Given the description of an element on the screen output the (x, y) to click on. 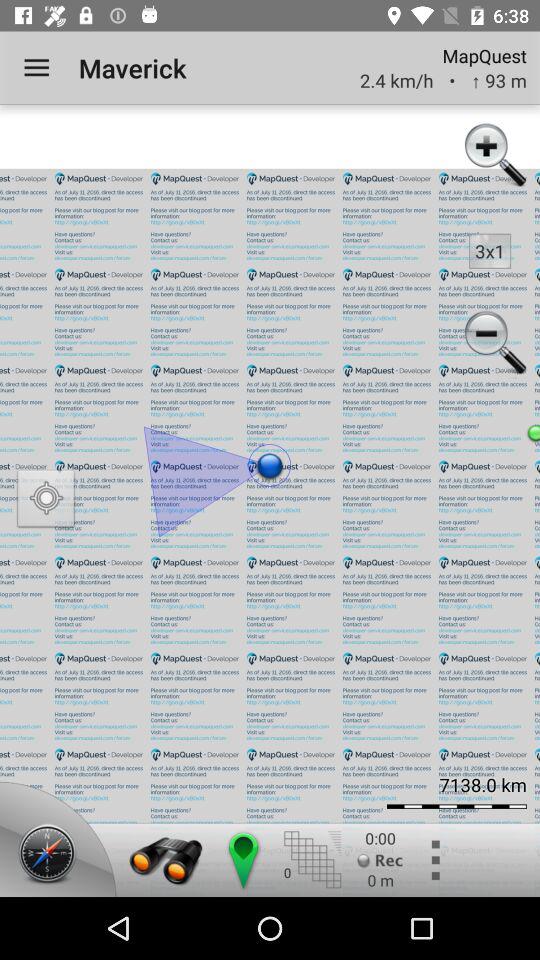
search (166, 860)
